Given the description of an element on the screen output the (x, y) to click on. 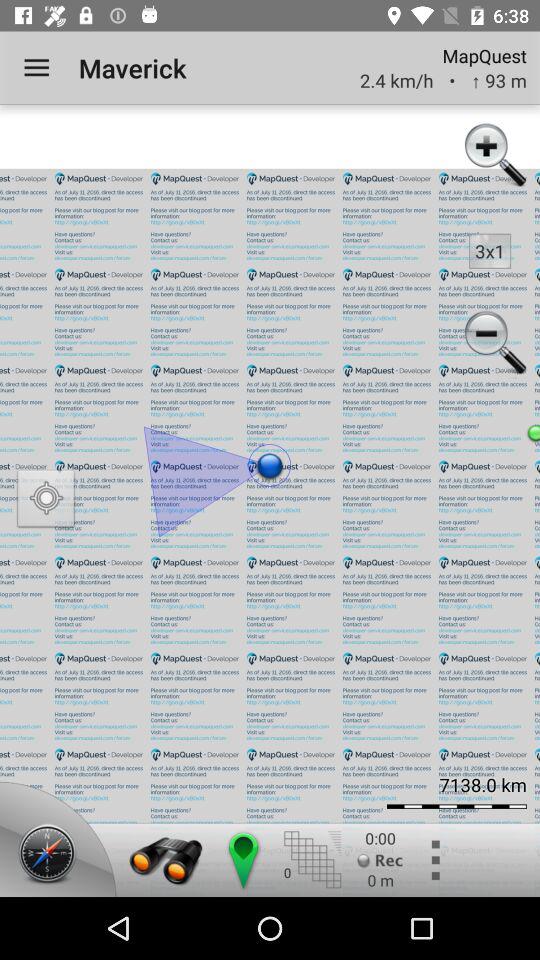
search (166, 860)
